Given the description of an element on the screen output the (x, y) to click on. 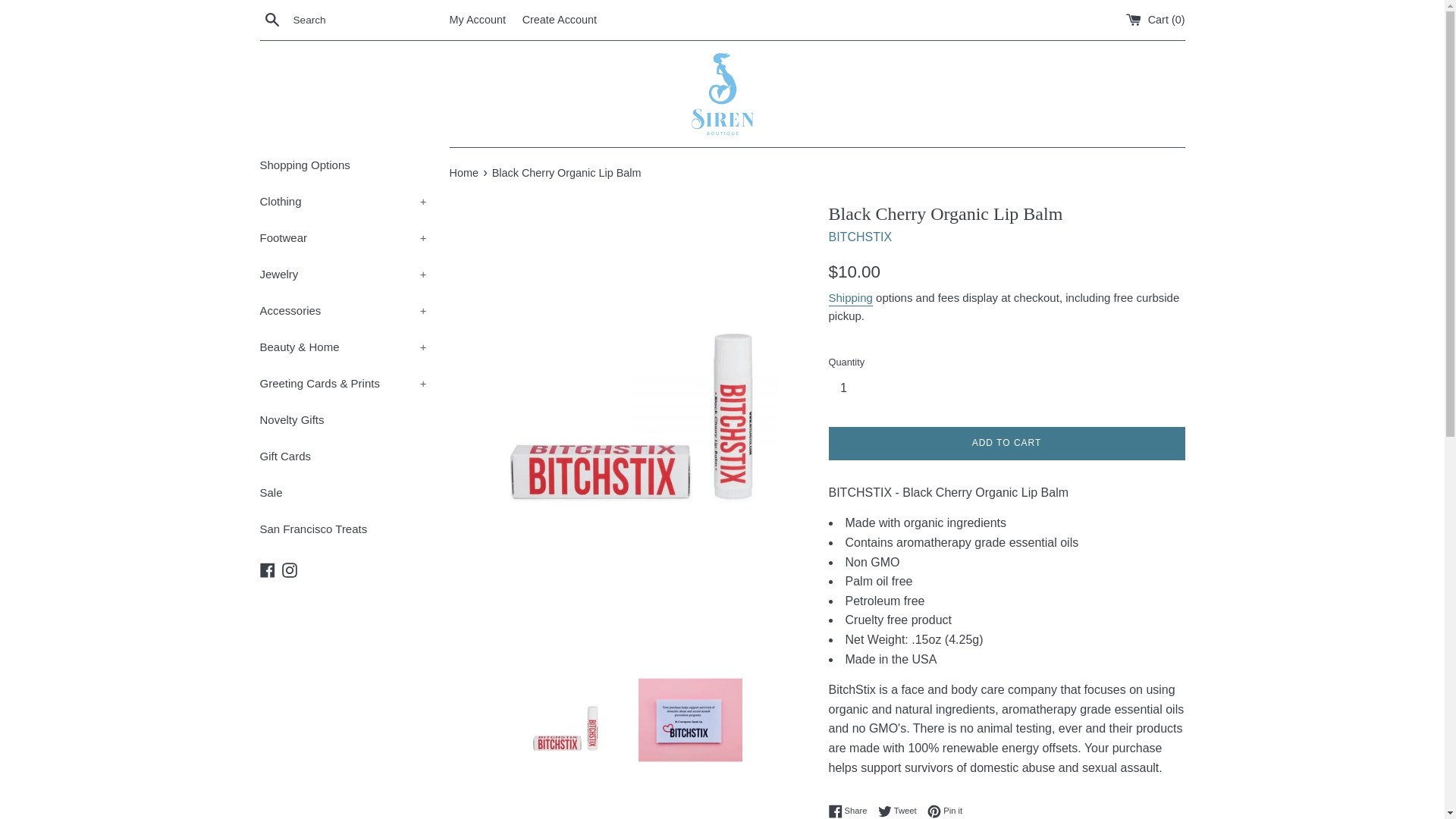
Tweet on Twitter (900, 811)
SF Siren on Instagram (289, 568)
Pin on Pinterest (944, 811)
Create Account (559, 19)
Share on Facebook (851, 811)
1 (848, 388)
Back to the frontpage (464, 173)
BITCHSTIX (859, 236)
SF Siren on Facebook (267, 568)
My Account (476, 19)
